Given the description of an element on the screen output the (x, y) to click on. 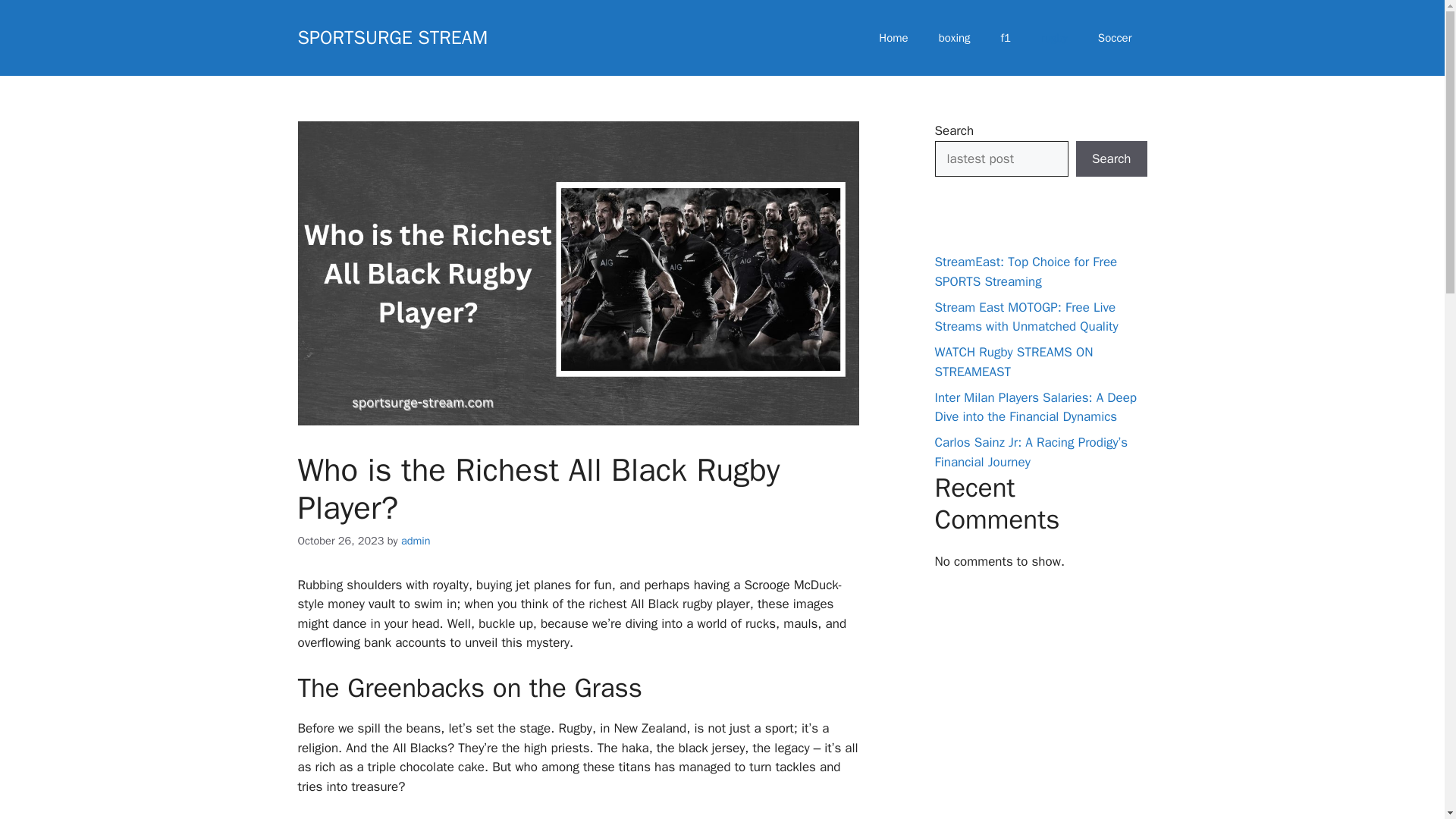
StreamEast: Top Choice for Free SPORTS Streaming (1025, 271)
admin (415, 540)
f1 (1005, 37)
SPORTSURGE STREAM (392, 37)
Soccer (1115, 37)
Stream East MOTOGP: Free Live Streams with Unmatched Quality (1026, 316)
WATCH Rugby STREAMS ON STREAMEAST (1013, 361)
Search (1111, 158)
boxing (954, 37)
rugby (1054, 37)
